Given the description of an element on the screen output the (x, y) to click on. 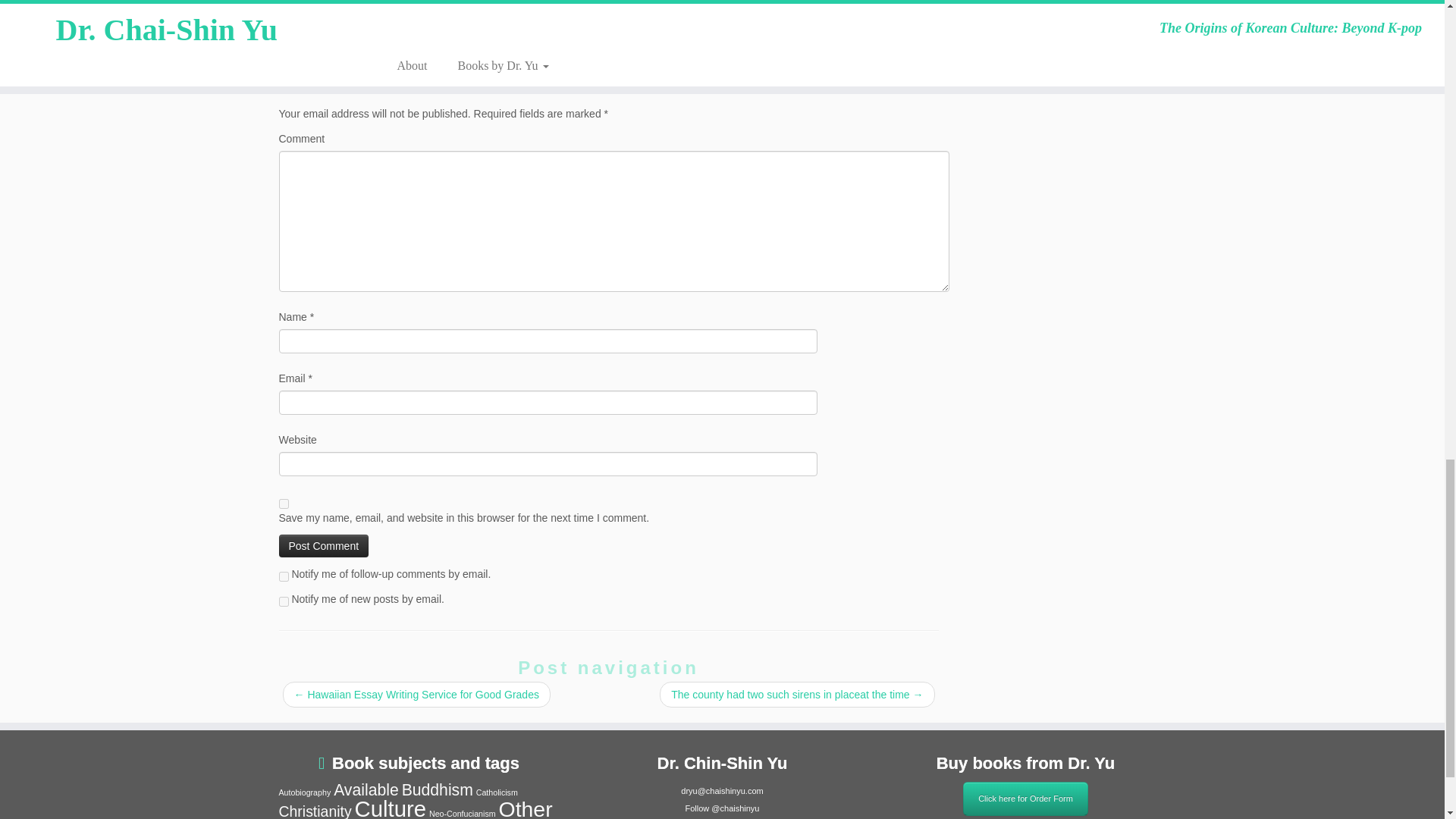
Autobiography (305, 791)
yes (283, 503)
Click to share on Twitter (290, 36)
Available (365, 789)
subscribe (283, 576)
Neo-Confucianism (462, 813)
Post Comment (324, 545)
subscribe (283, 601)
Click to share on Facebook (317, 36)
Post Comment (324, 545)
Catholicism (497, 791)
Buddhism (437, 789)
